Given the description of an element on the screen output the (x, y) to click on. 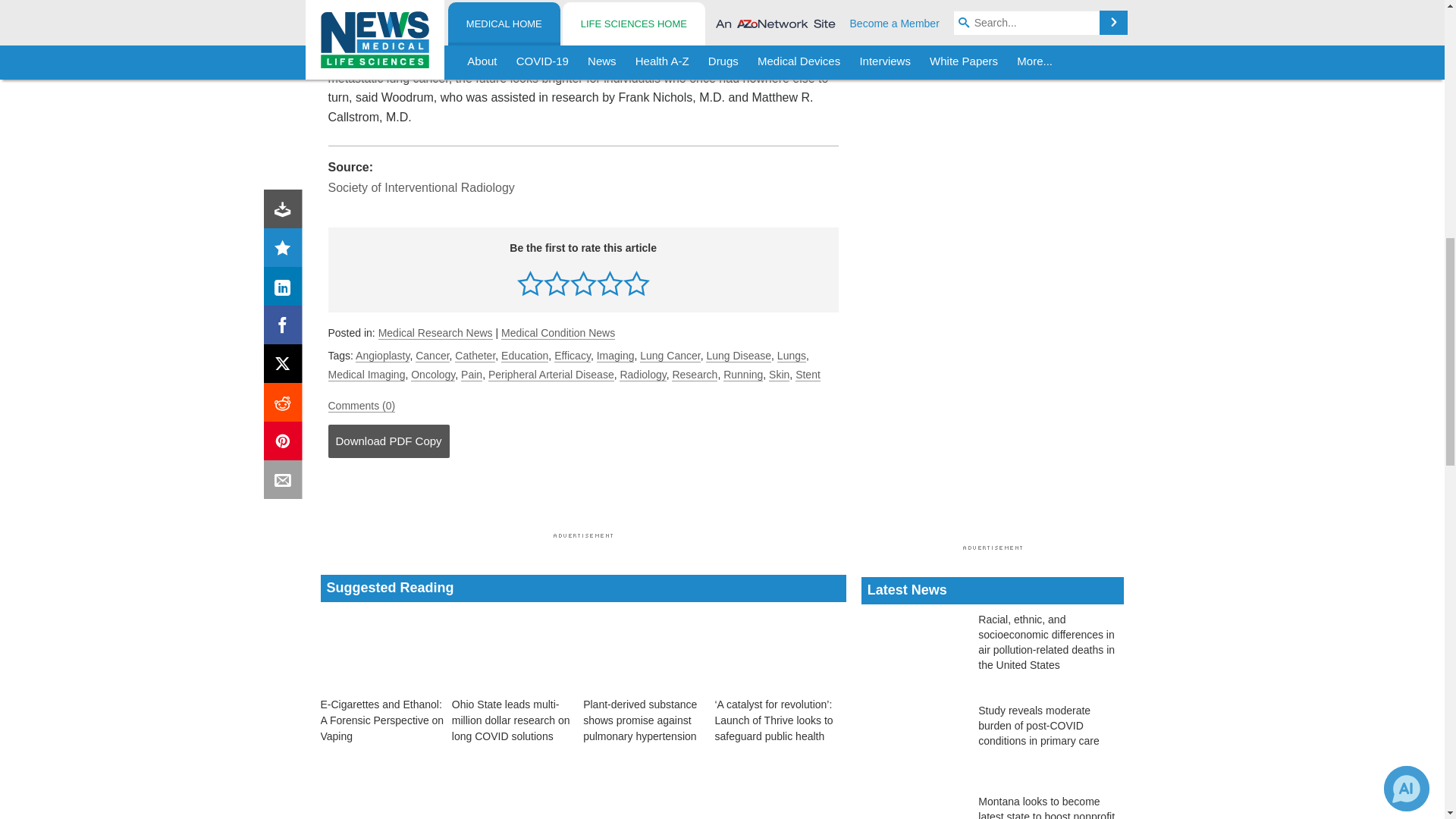
Rate this 4 stars out of 5 (609, 283)
Rate this 5 stars out of 5 (636, 283)
